Given the description of an element on the screen output the (x, y) to click on. 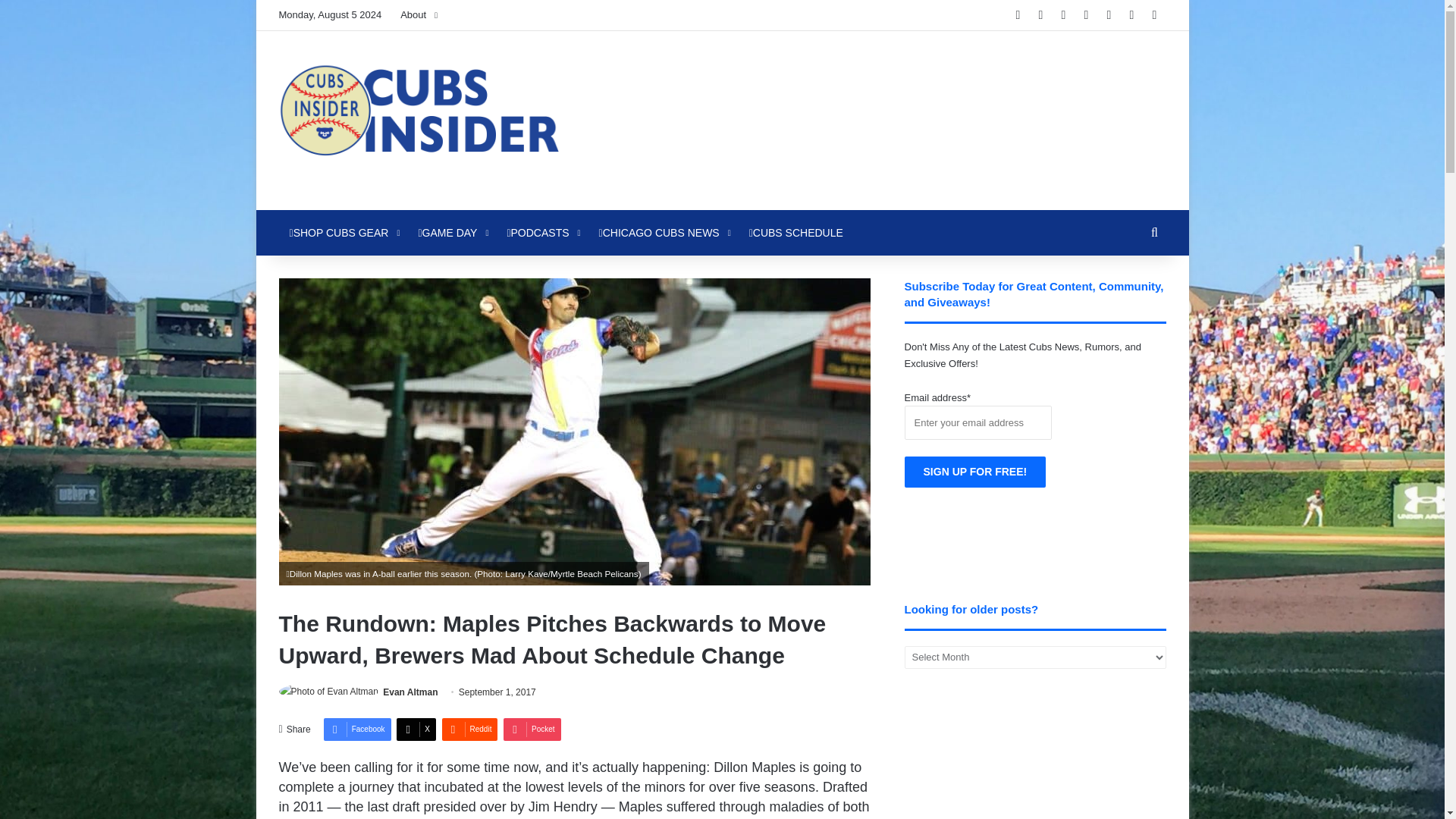
Evan Altman (410, 692)
X (415, 729)
Reddit (469, 729)
Cubs Insider (419, 120)
Pocket (531, 729)
About (419, 15)
SIGN UP FOR FREE! (975, 471)
Pocket (531, 729)
Facebook (357, 729)
SHOP CUBS GEAR (343, 232)
GAME DAY (451, 232)
CUBS SCHEDULE (795, 232)
Facebook (357, 729)
PODCASTS (542, 232)
X (415, 729)
